Given the description of an element on the screen output the (x, y) to click on. 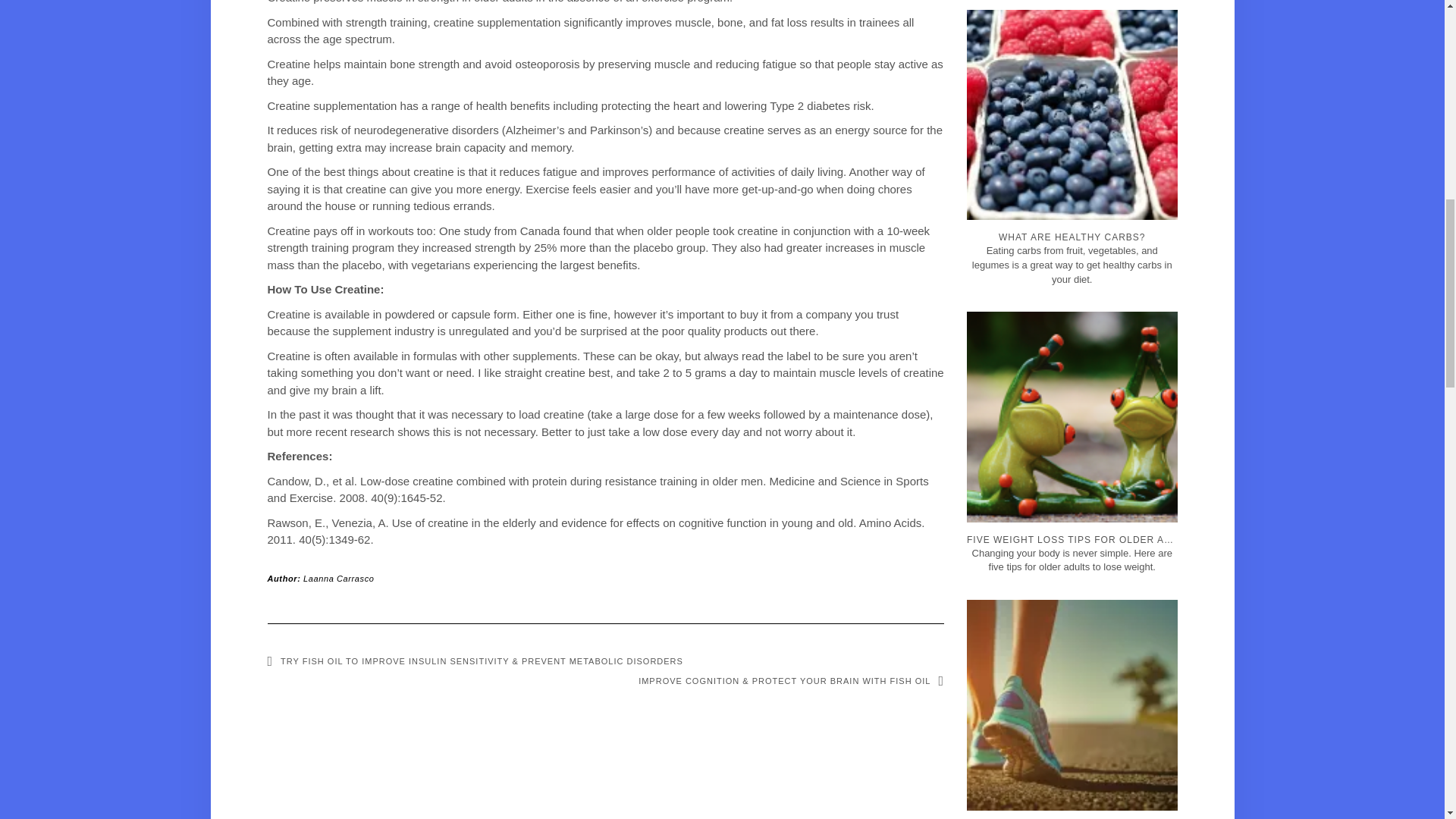
WHAT ARE HEALTHY CARBS? (1075, 175)
FIVE WEIGHT LOSS TIPS FOR OLDER ADULTS (1075, 478)
Posts by Laanna Carrasco (338, 578)
Laanna Carrasco (338, 578)
